Given the description of an element on the screen output the (x, y) to click on. 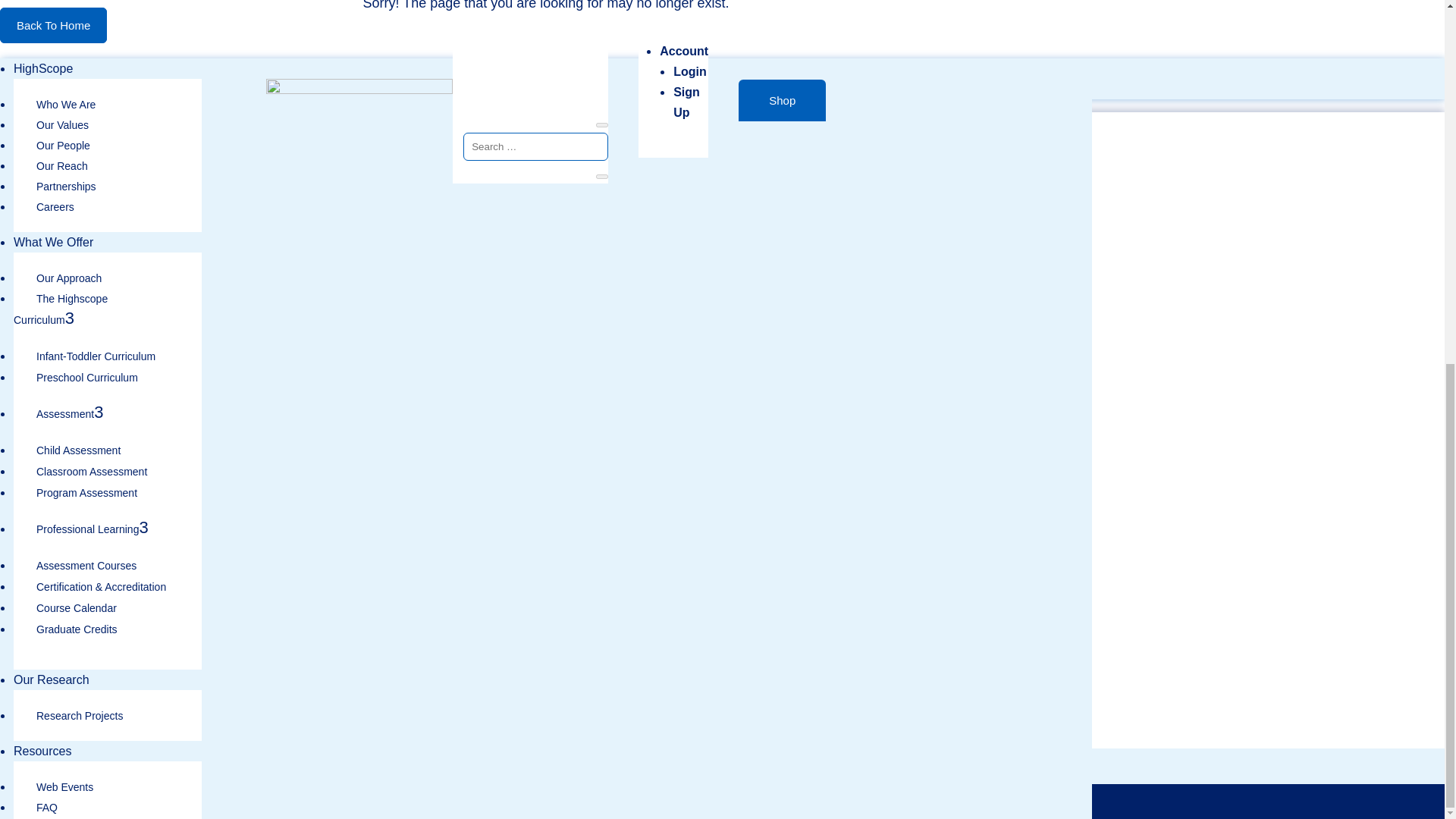
Follow on Youtube (1072, 619)
Follow on LinkedIn (1072, 639)
Follow on Instagram (1069, 595)
Follow on Facebook (1069, 540)
Follow on X (1069, 568)
logo-1 (93, 207)
